Given the description of an element on the screen output the (x, y) to click on. 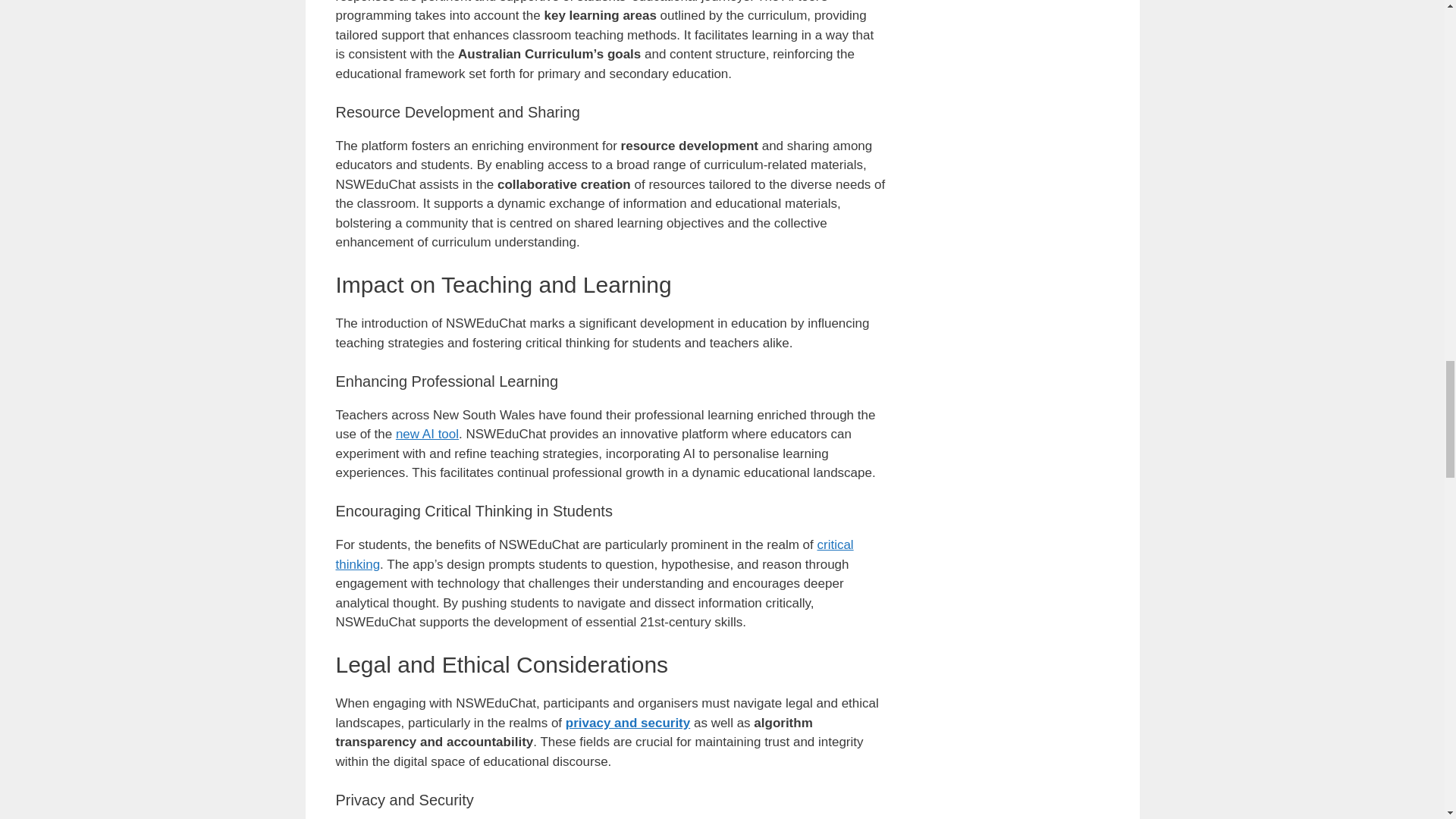
new AI tool (427, 433)
privacy and security (628, 722)
critical thinking (593, 554)
